Given the description of an element on the screen output the (x, y) to click on. 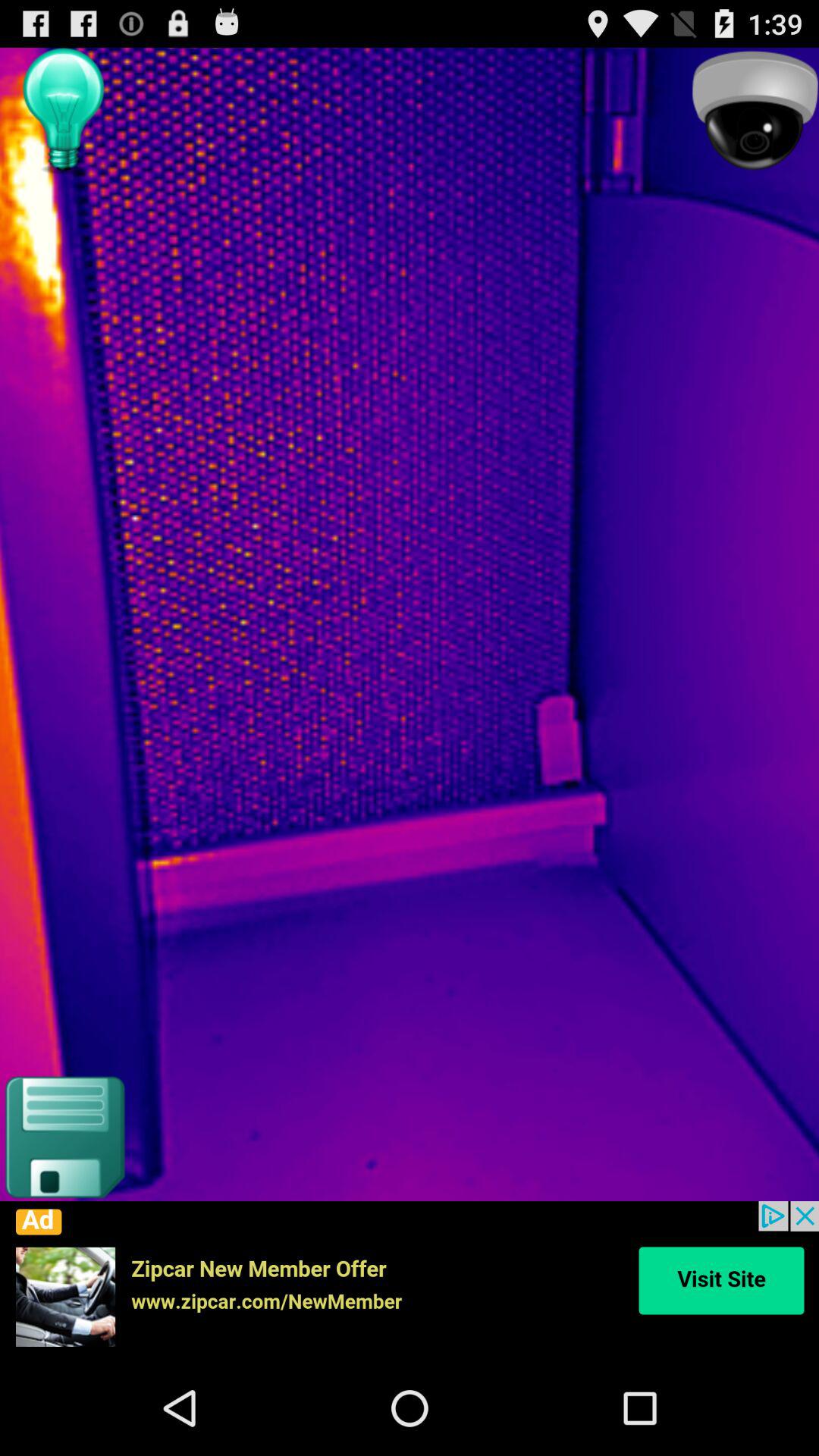
select advertisement (409, 1280)
